Given the description of an element on the screen output the (x, y) to click on. 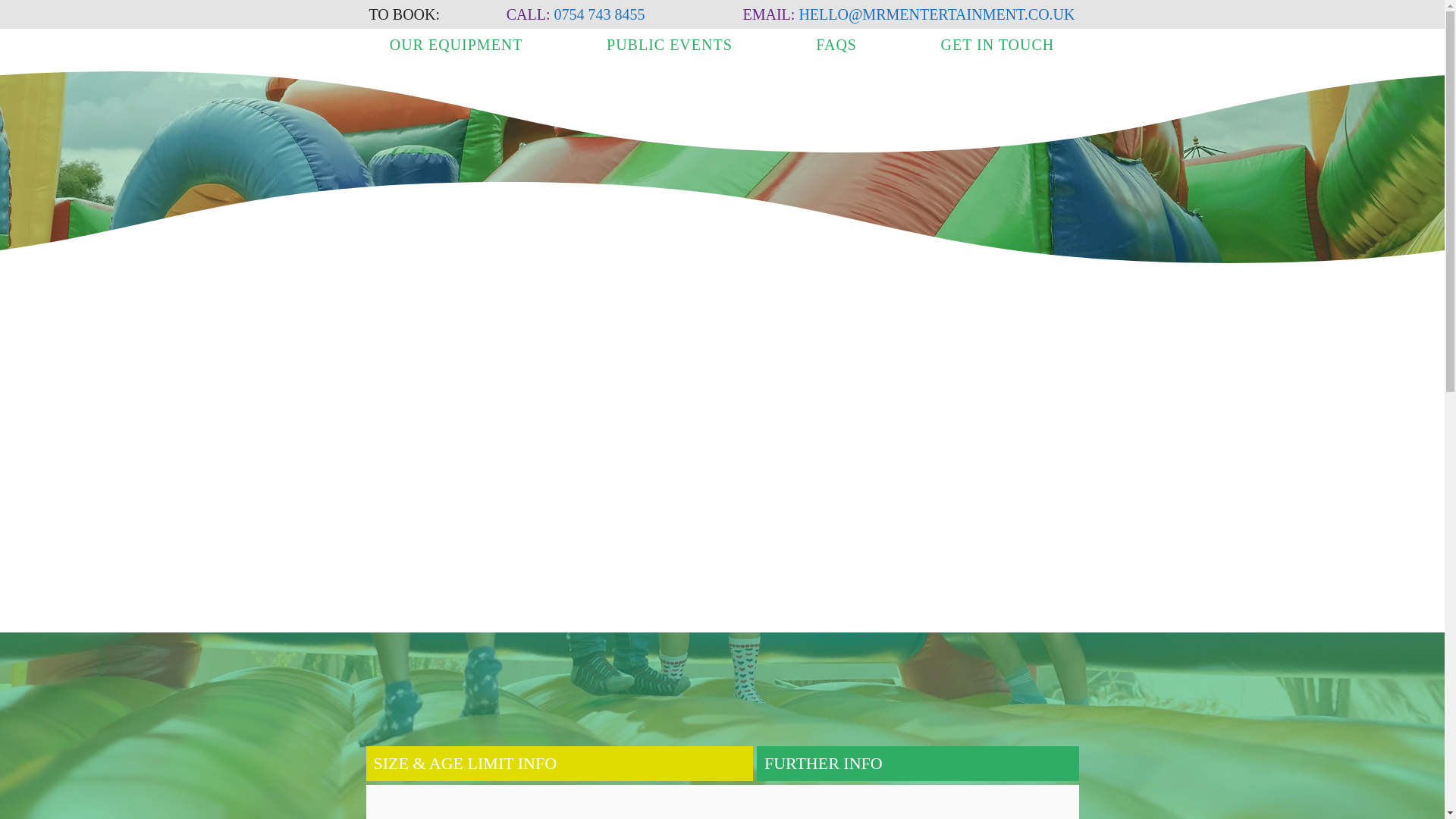
GET IN TOUCH (997, 44)
PUBLIC EVENTS (669, 44)
FAQS (836, 44)
0754 743 8455 (599, 13)
